Given the description of an element on the screen output the (x, y) to click on. 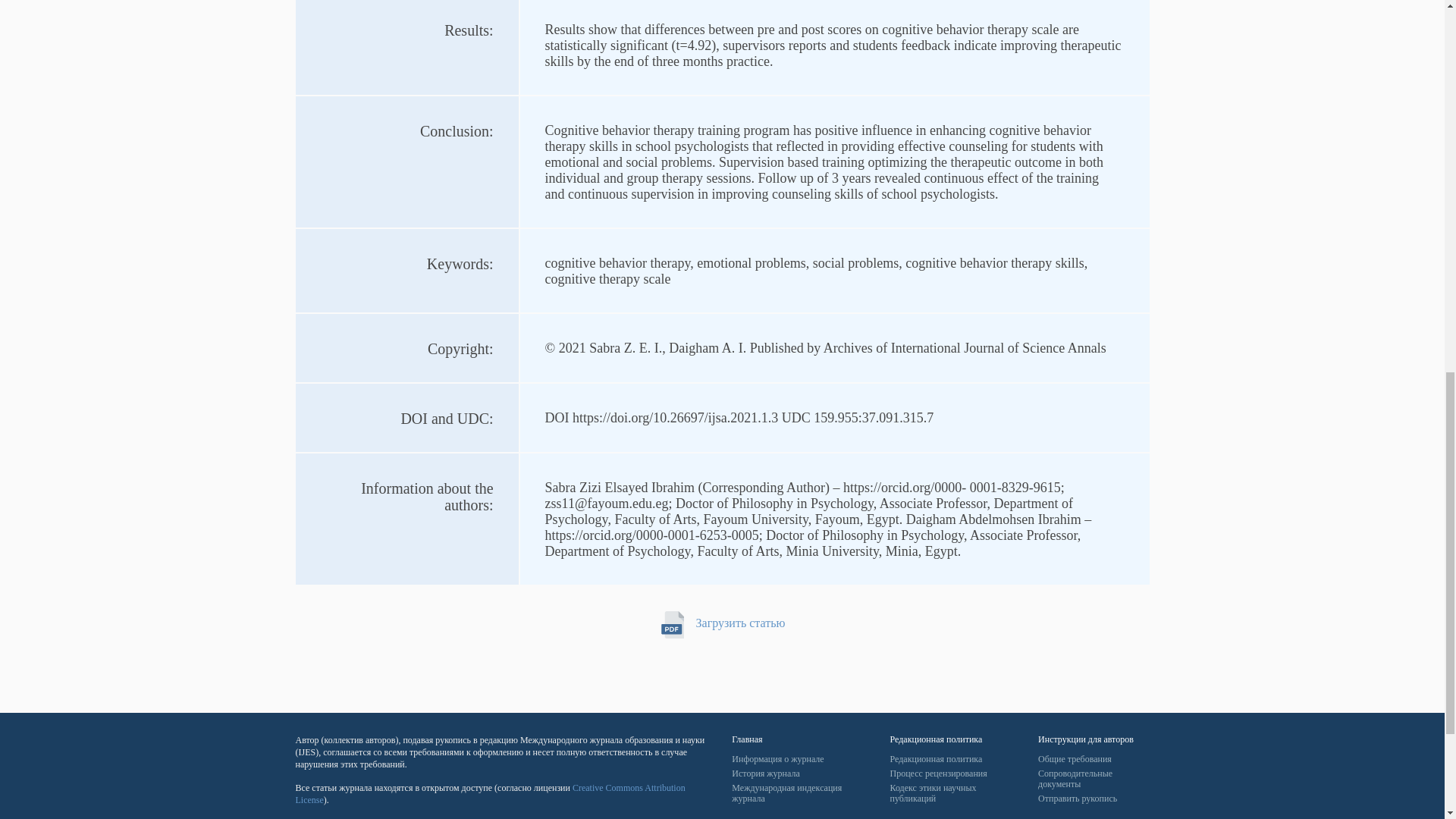
Creative Commons Attribution License (490, 793)
